Given the description of an element on the screen output the (x, y) to click on. 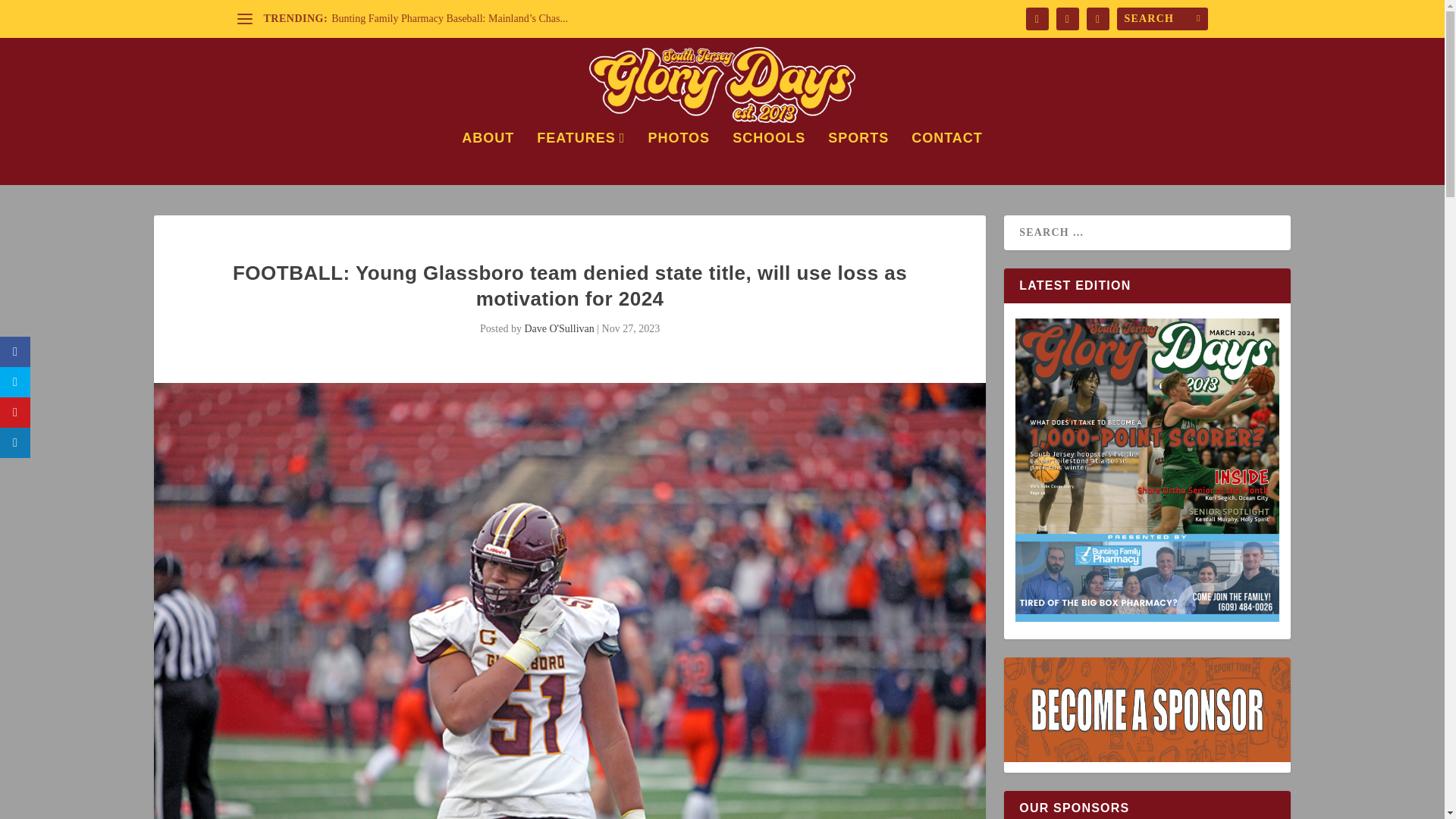
SPORTS (858, 158)
SCHOOLS (768, 158)
PHOTOS (678, 158)
Posts by Dave O'Sullivan (559, 328)
Dave O'Sullivan (559, 328)
FEATURES (580, 158)
Search for: (1161, 18)
CONTACT (946, 158)
ABOUT (487, 158)
